Given the description of an element on the screen output the (x, y) to click on. 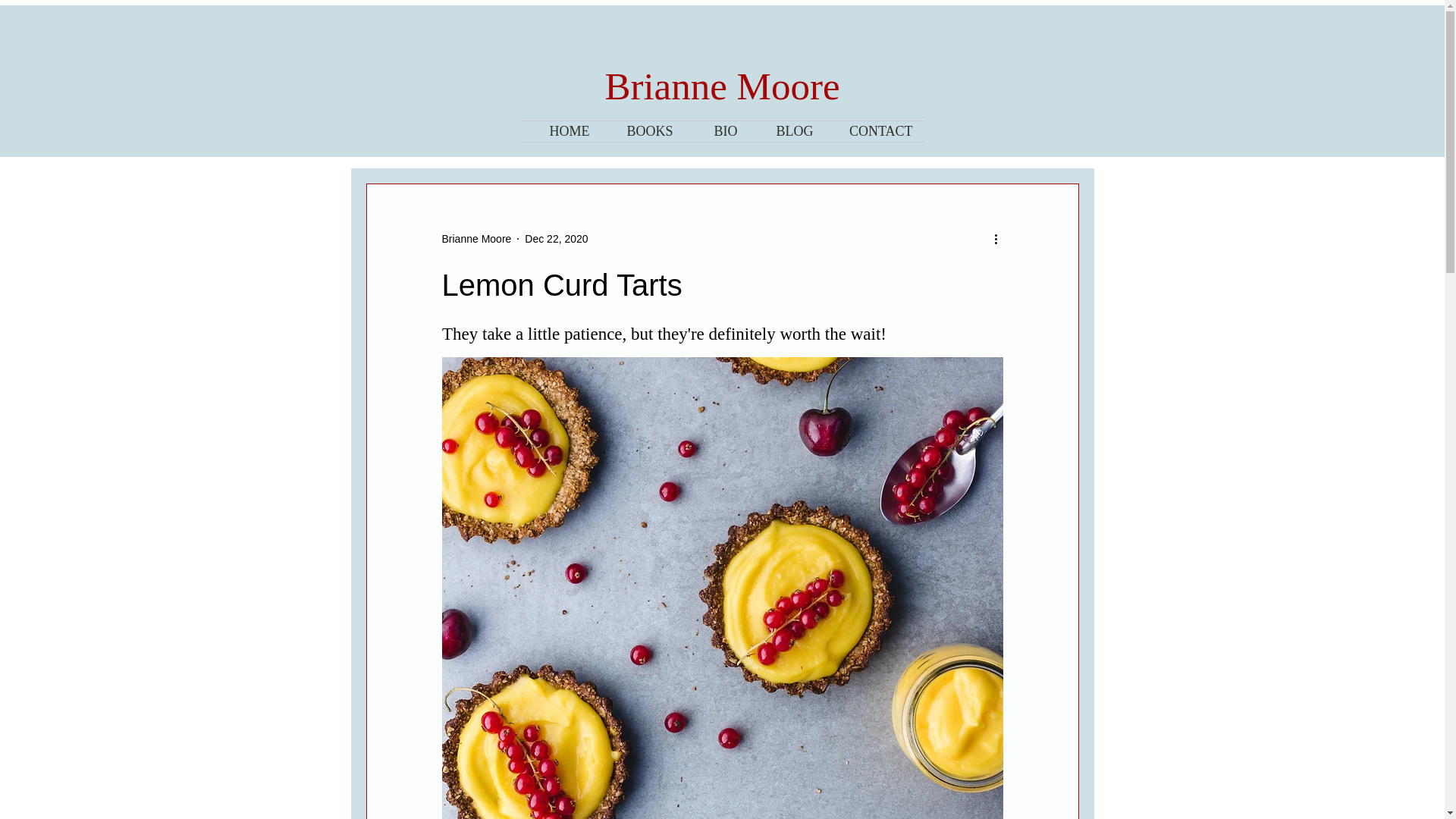
HOME (559, 131)
Brianne Moore (476, 238)
BOOKS (641, 131)
BLOG (787, 131)
Dec 22, 2020 (556, 238)
CONTACT (874, 131)
BIO (716, 131)
Brianne Moore (722, 86)
